Given the description of an element on the screen output the (x, y) to click on. 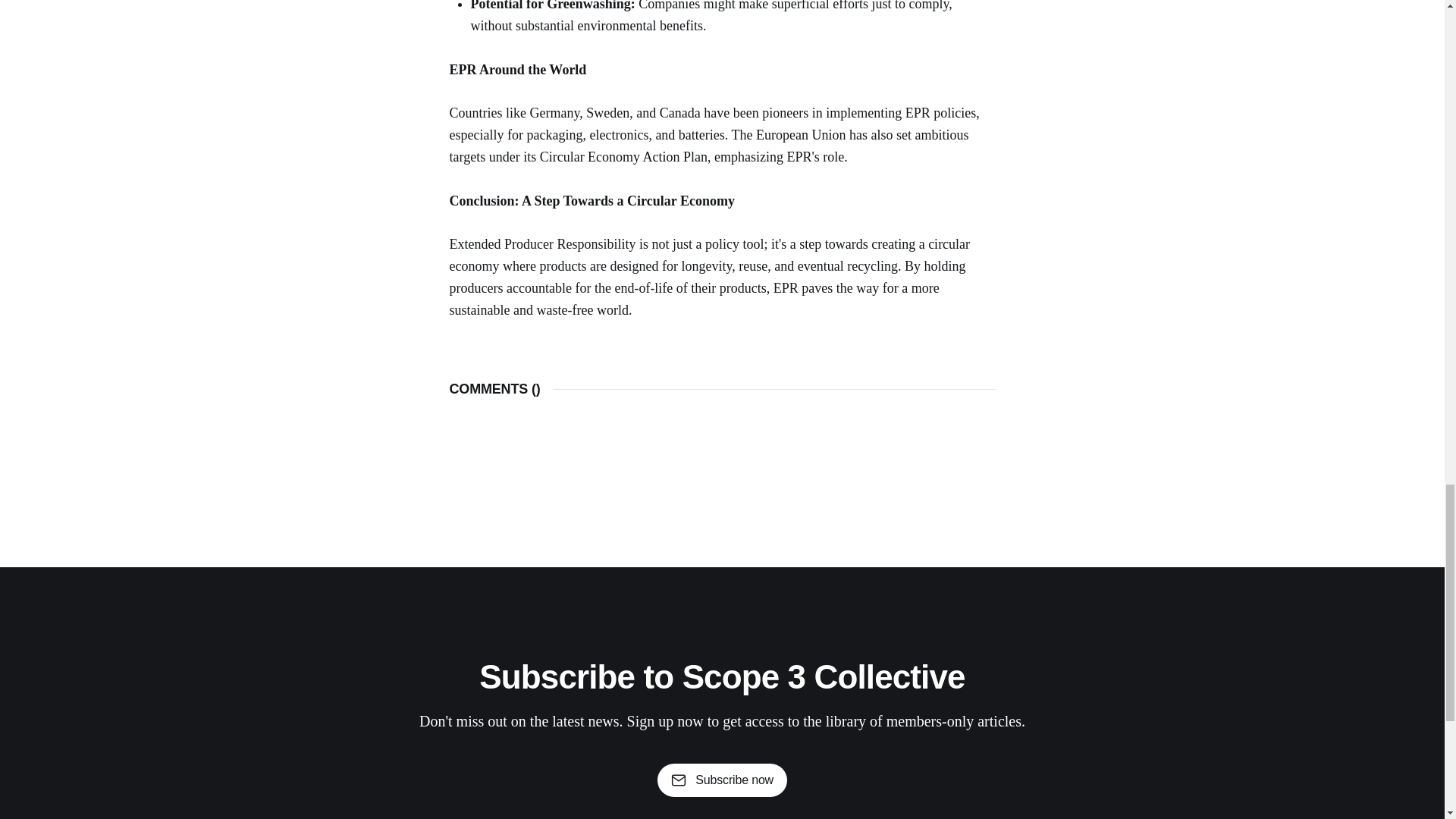
Subscribe now (722, 779)
